Given the description of an element on the screen output the (x, y) to click on. 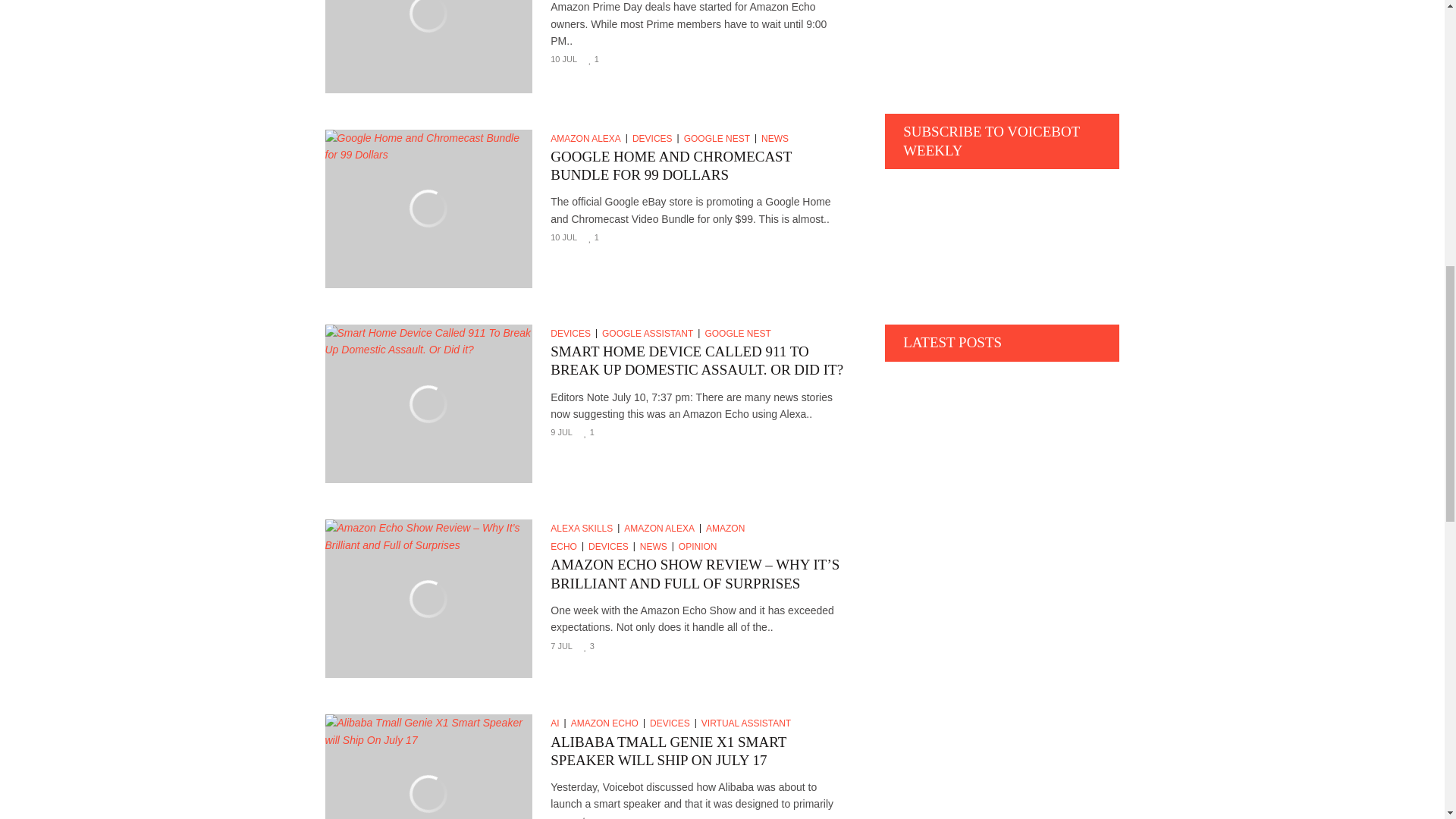
View all posts in Amazon Alexa (588, 138)
View all posts in Google Nest (720, 138)
View all posts in News (777, 138)
View all posts in Devices (655, 138)
